Given the description of an element on the screen output the (x, y) to click on. 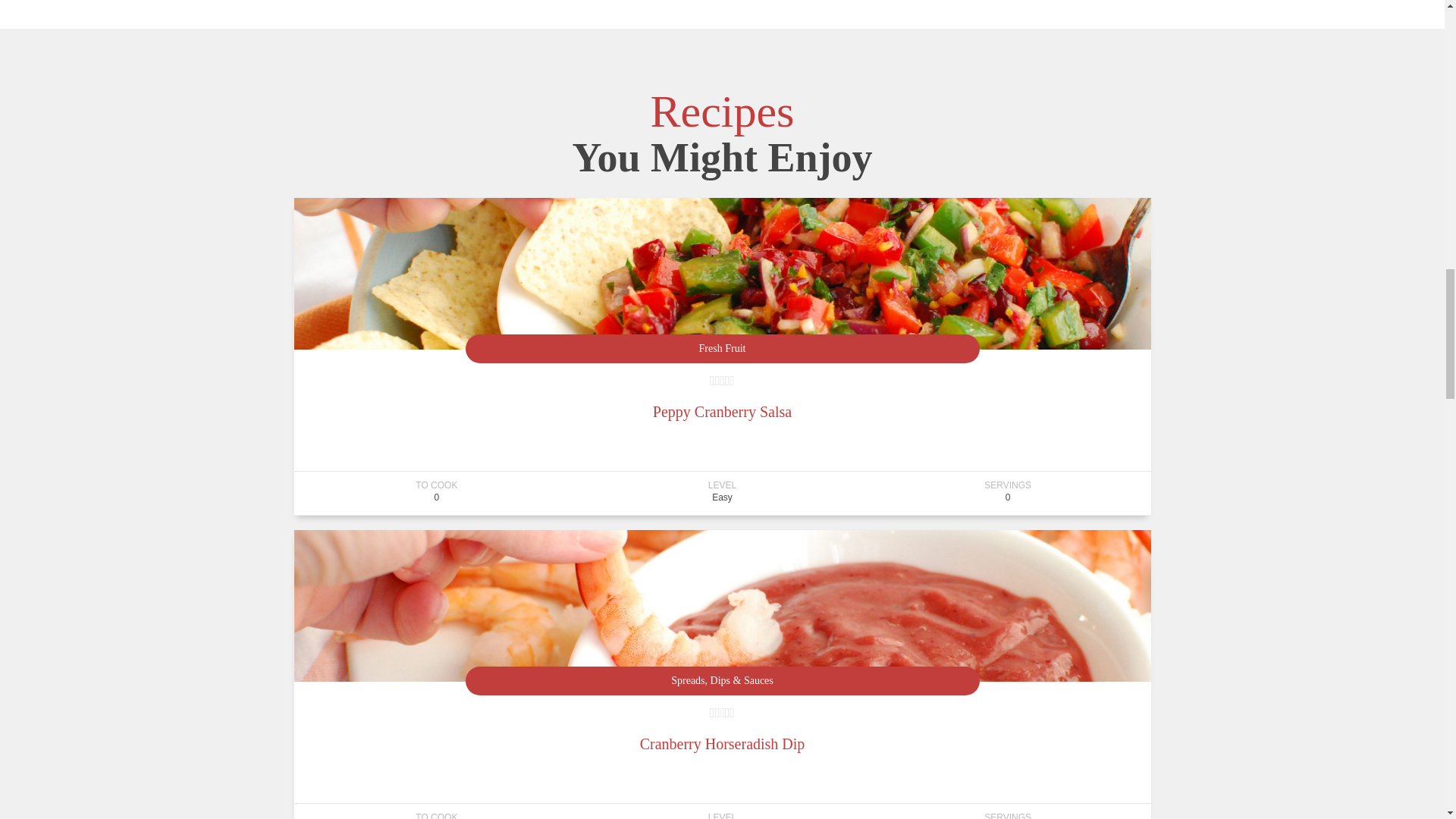
Cranberry Horseradish Dip (722, 743)
Peppy Cranberry Salsa (722, 411)
